Given the description of an element on the screen output the (x, y) to click on. 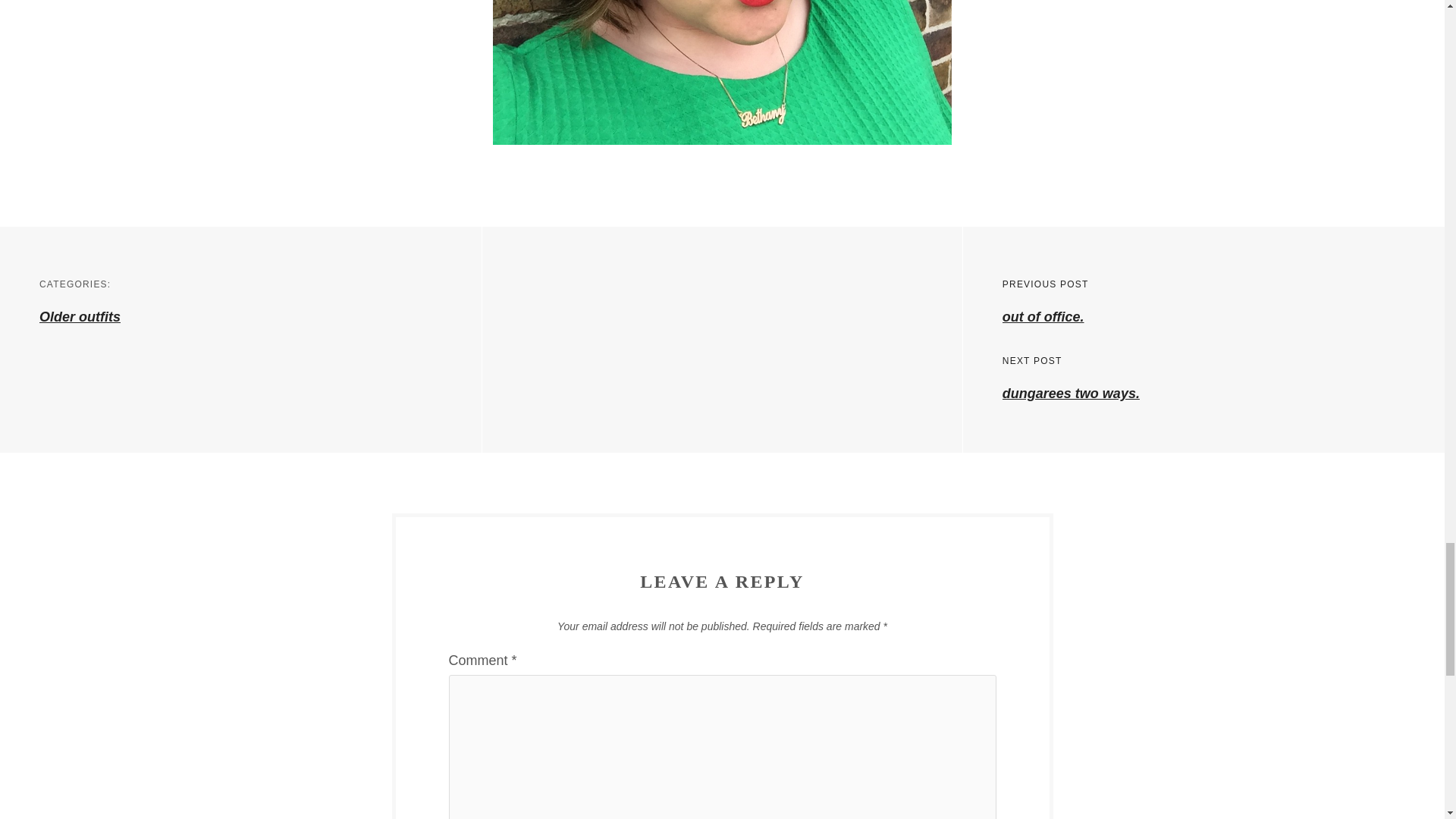
Older outfits (79, 316)
